Given the description of an element on the screen output the (x, y) to click on. 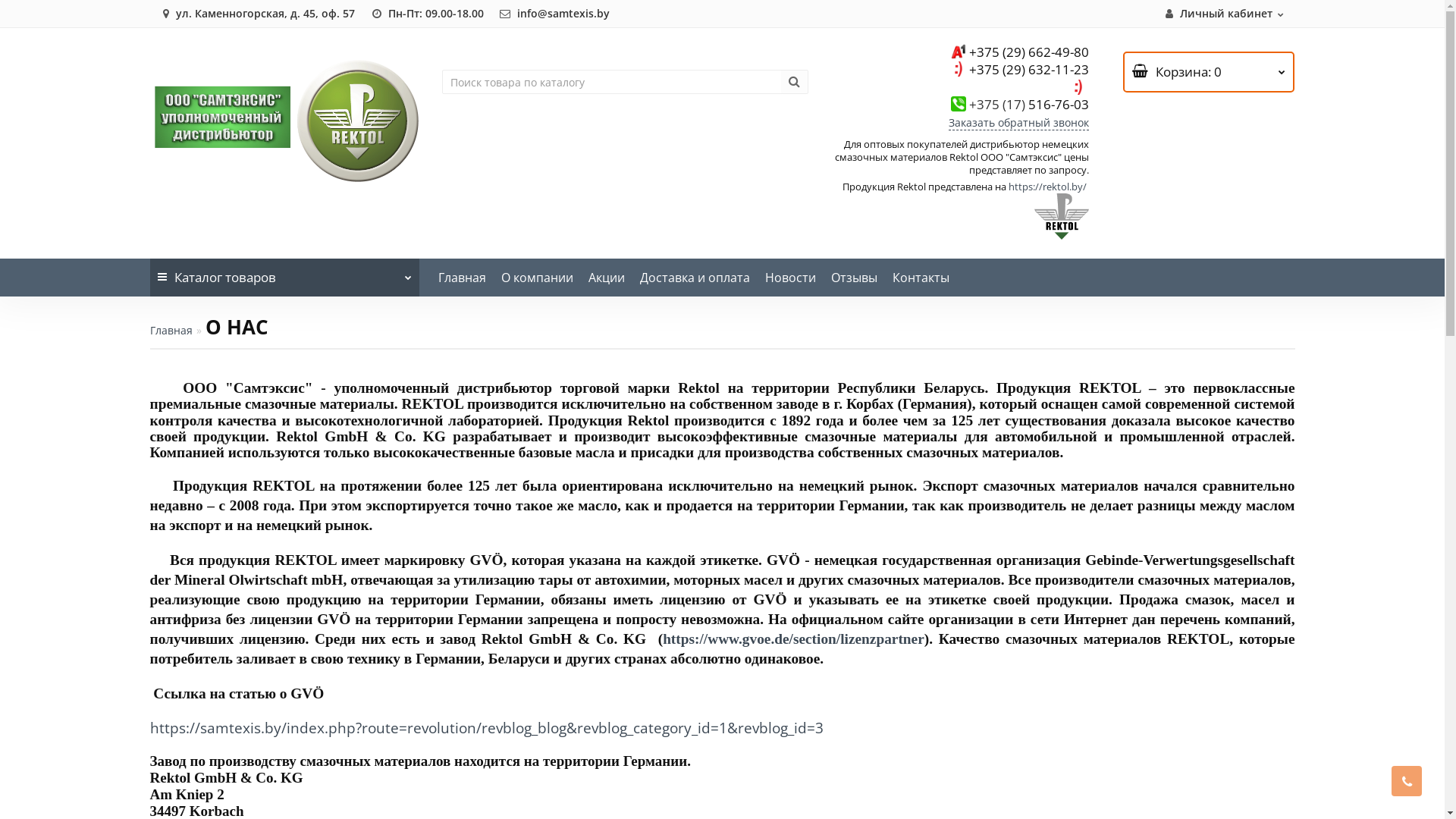
https://www.gvoe.de/section/lizenzpartner Element type: text (793, 638)
Rektol.by Element type: hover (284, 120)
info@samtexis.by Element type: text (554, 13)
+375 (17) 516-76-03 Element type: text (1028, 103)
https://rektol.by/ Element type: text (1047, 186)
